Given the description of an element on the screen output the (x, y) to click on. 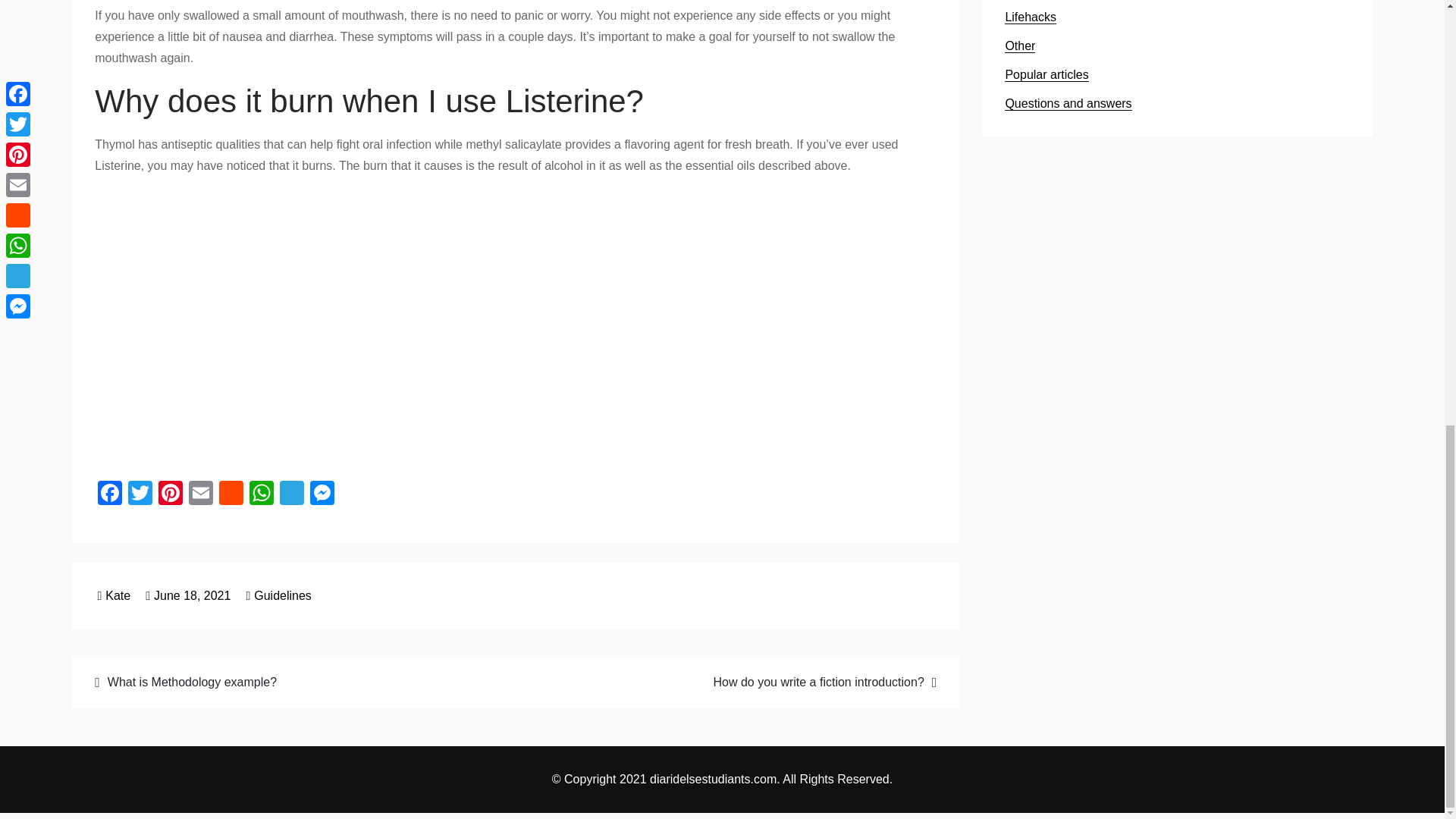
Guidelines (282, 594)
Pinterest (170, 494)
How do you write a fiction introduction? (735, 681)
The Untold Truth Of Listerine (336, 325)
Email (200, 494)
Pinterest (170, 494)
Twitter (140, 494)
Email (200, 494)
Messenger (322, 494)
WhatsApp (261, 494)
What is Methodology example? (295, 681)
Kate (114, 594)
Telegram (291, 494)
Facebook (109, 494)
WhatsApp (261, 494)
